Given the description of an element on the screen output the (x, y) to click on. 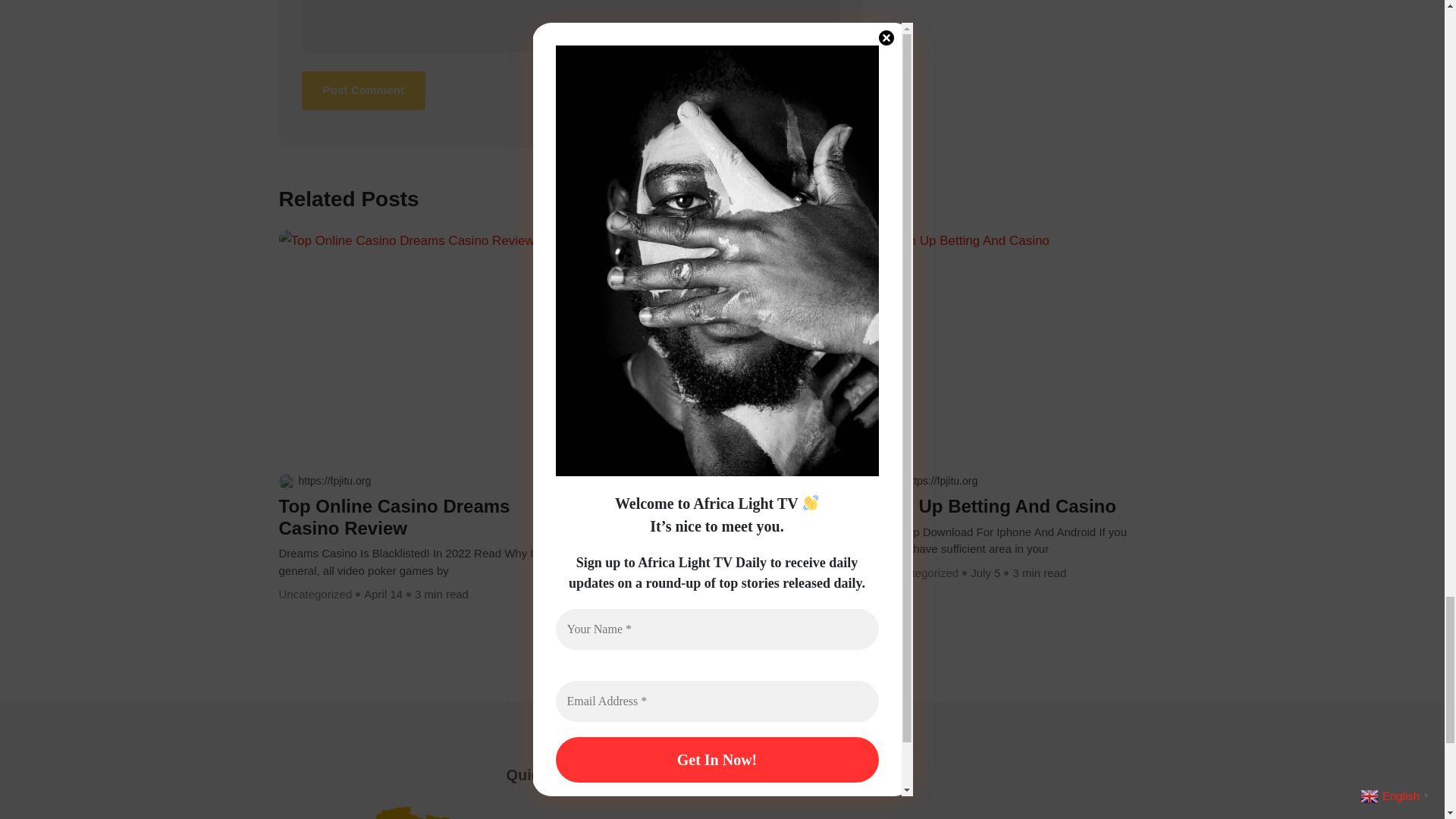
Post Comment (363, 90)
